Given the description of an element on the screen output the (x, y) to click on. 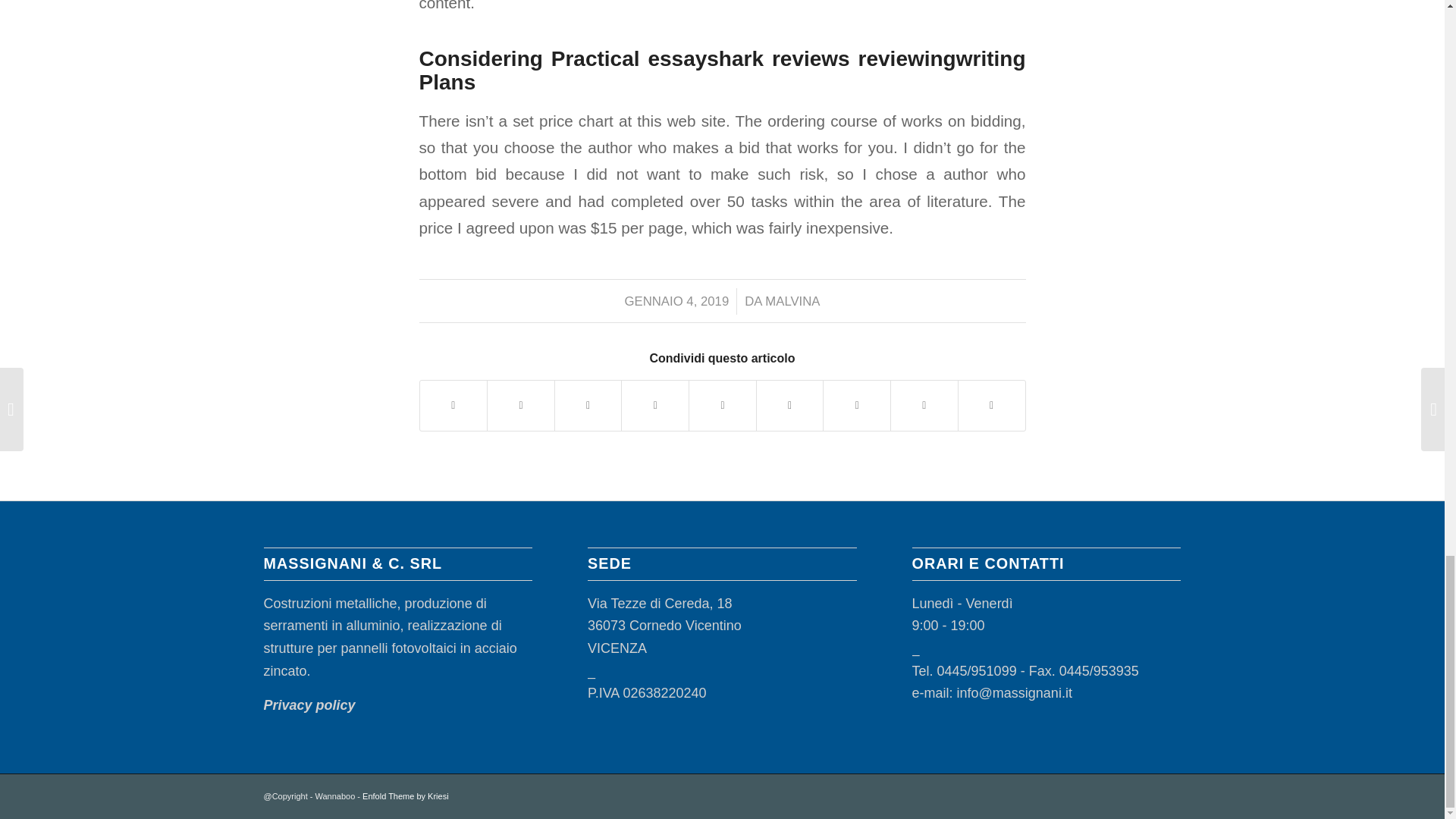
Articoli scritti da Malvina (792, 301)
MALVINA (792, 301)
Enfold Theme by Kriesi (405, 795)
Privacy policy (309, 704)
